Given the description of an element on the screen output the (x, y) to click on. 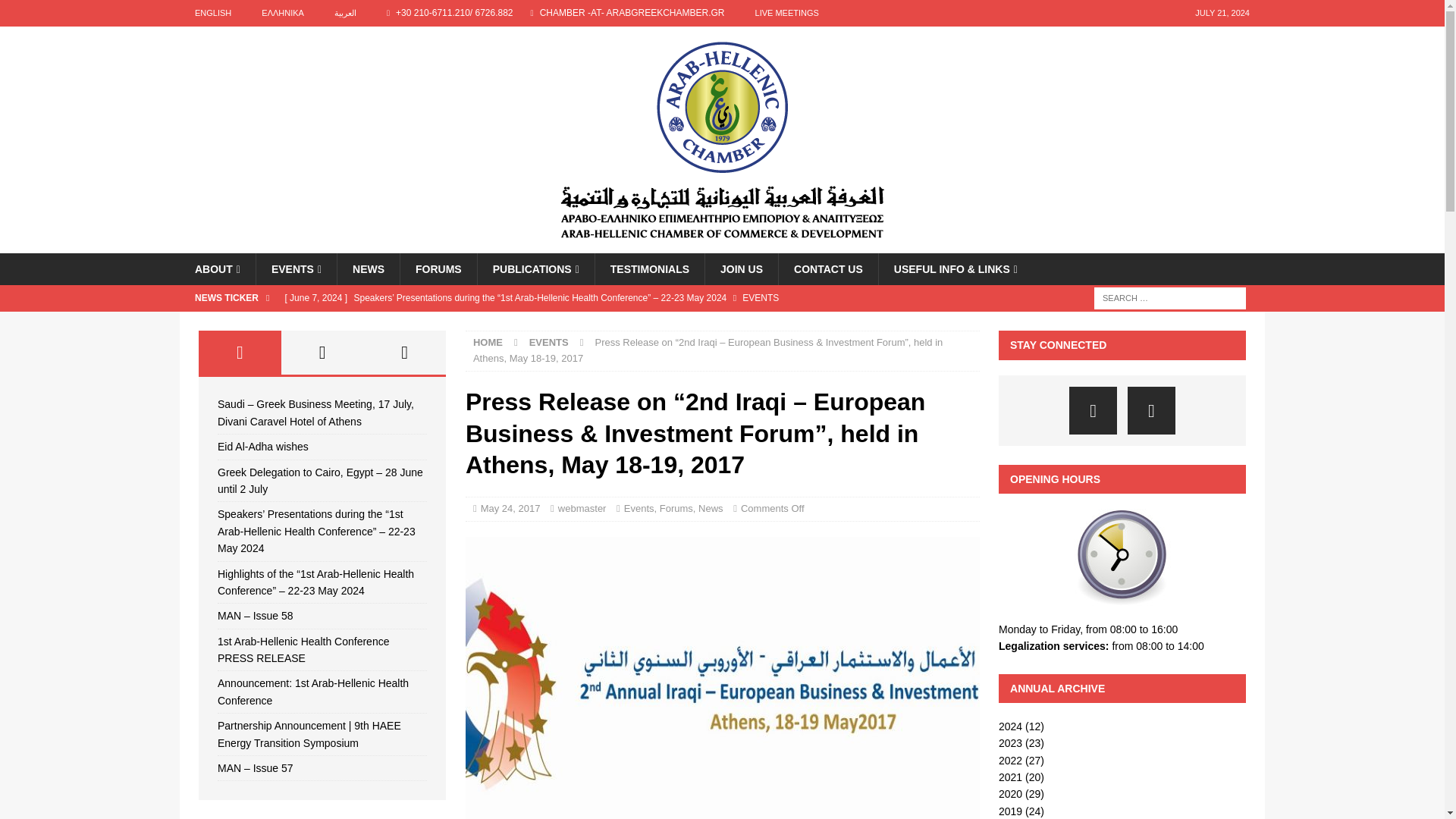
English (212, 13)
ENGLISH (212, 13)
LIVE MEETINGS (786, 13)
